Given the description of an element on the screen output the (x, y) to click on. 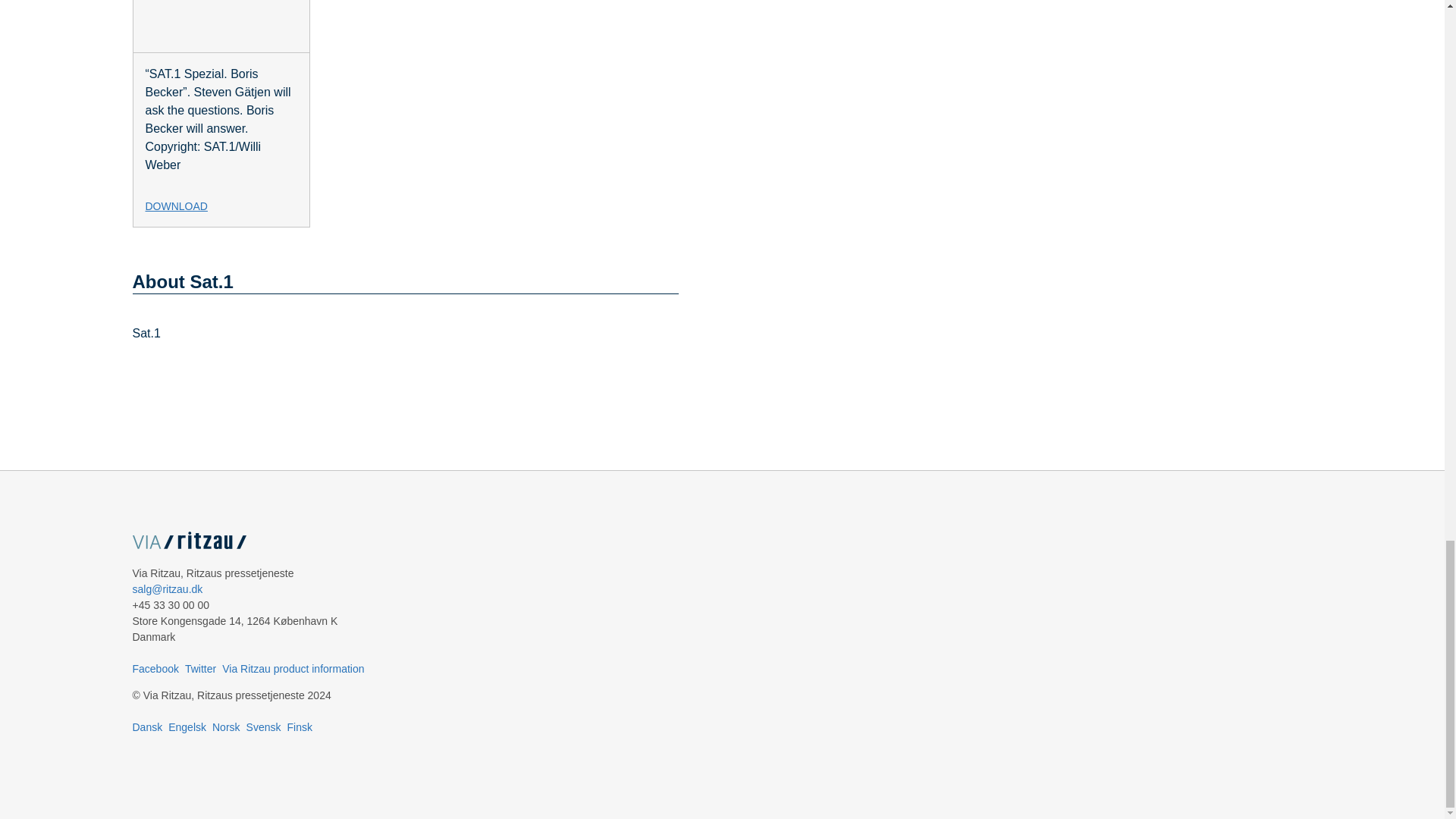
Finsk (298, 727)
Facebook (154, 668)
Twitter (199, 668)
Via Ritzau product information (293, 668)
Dansk (146, 727)
DOWNLOAD (227, 200)
Norsk (226, 727)
Engelsk (187, 727)
Svensk (263, 727)
